Given the description of an element on the screen output the (x, y) to click on. 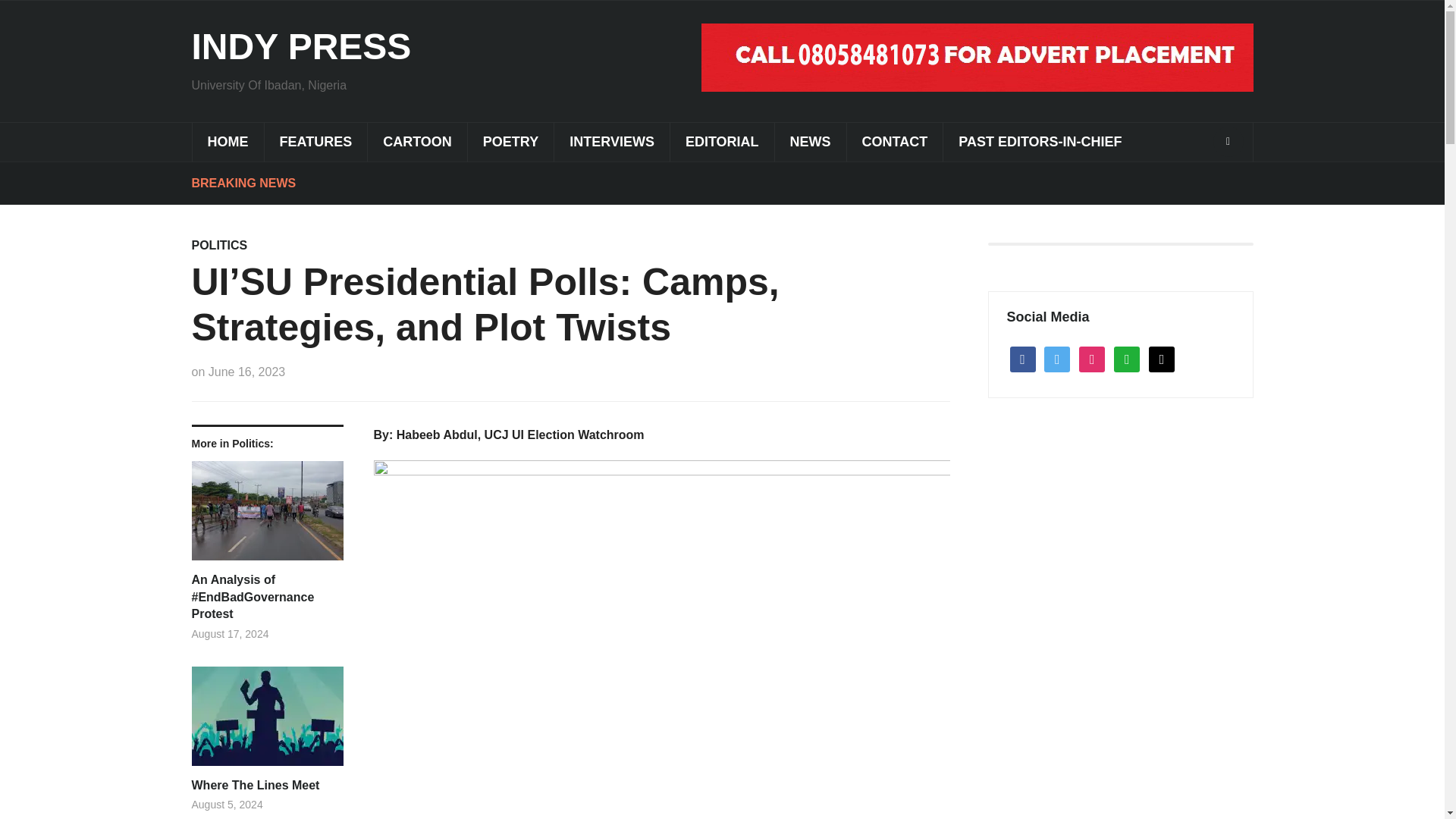
FEATURES (315, 141)
HOME (226, 141)
PAST EDITORS-IN-CHIEF (1039, 141)
INTERVIEWS (611, 141)
Permalink to Where The Lines Meet (266, 721)
Permalink to Where The Lines Meet (266, 785)
CONTACT (894, 141)
CARTOON (416, 141)
POETRY (510, 141)
INDY PRESS (300, 46)
